Given the description of an element on the screen output the (x, y) to click on. 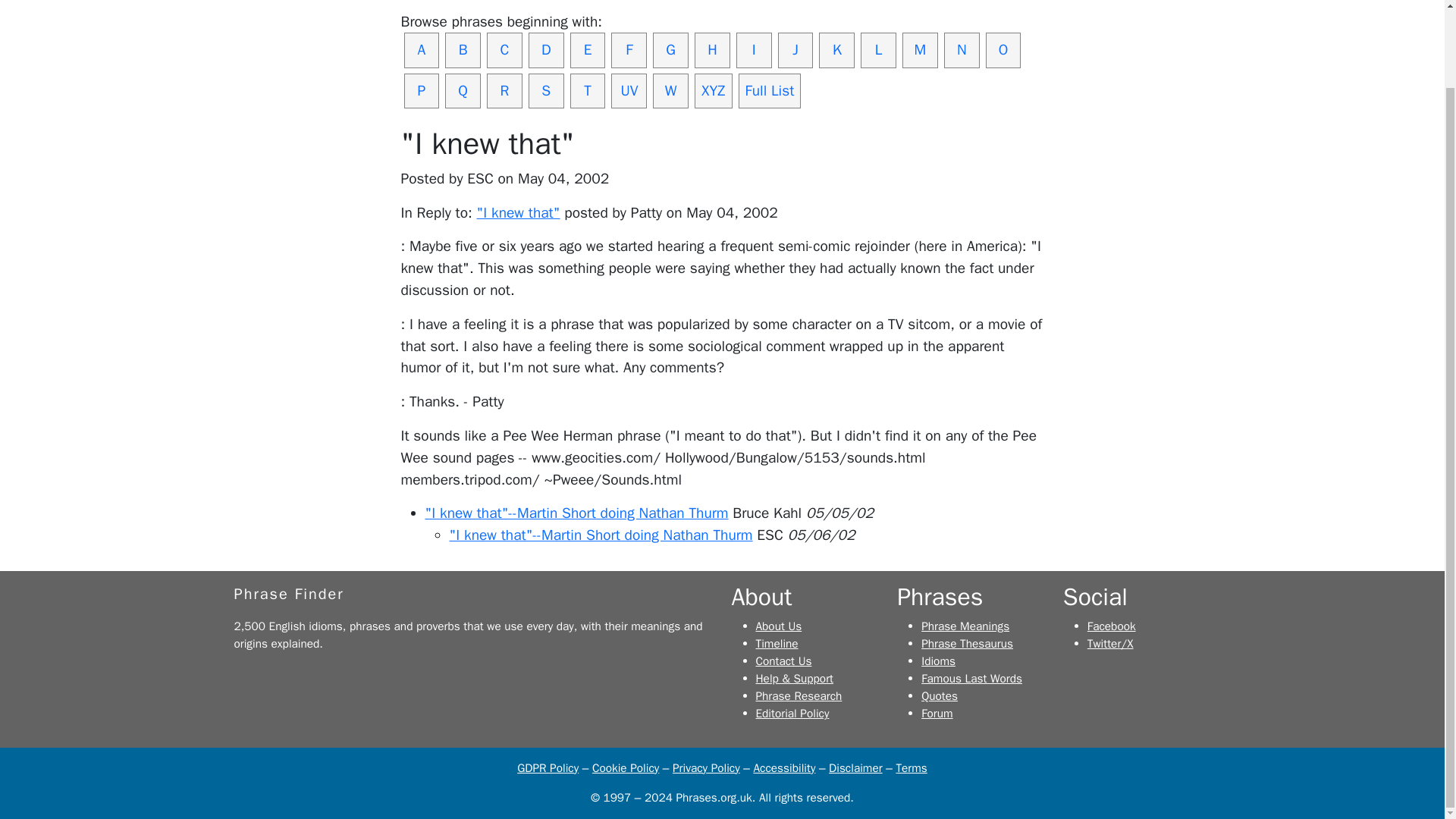
R (504, 90)
Timeline (776, 643)
Sayings and idioms that begin with the letter R (504, 90)
D (546, 49)
K (836, 49)
Sayings and idioms that begin with the letter T (587, 90)
Sayings and idioms that begin with the letter Q (462, 90)
About Us (778, 626)
Sayings and idioms that begin with the letter N (961, 49)
Full List (770, 90)
N (961, 49)
"I knew that" (518, 212)
Sayings and idioms that begin with the letter P (421, 90)
Phrase Finder (287, 593)
A (421, 49)
